Given the description of an element on the screen output the (x, y) to click on. 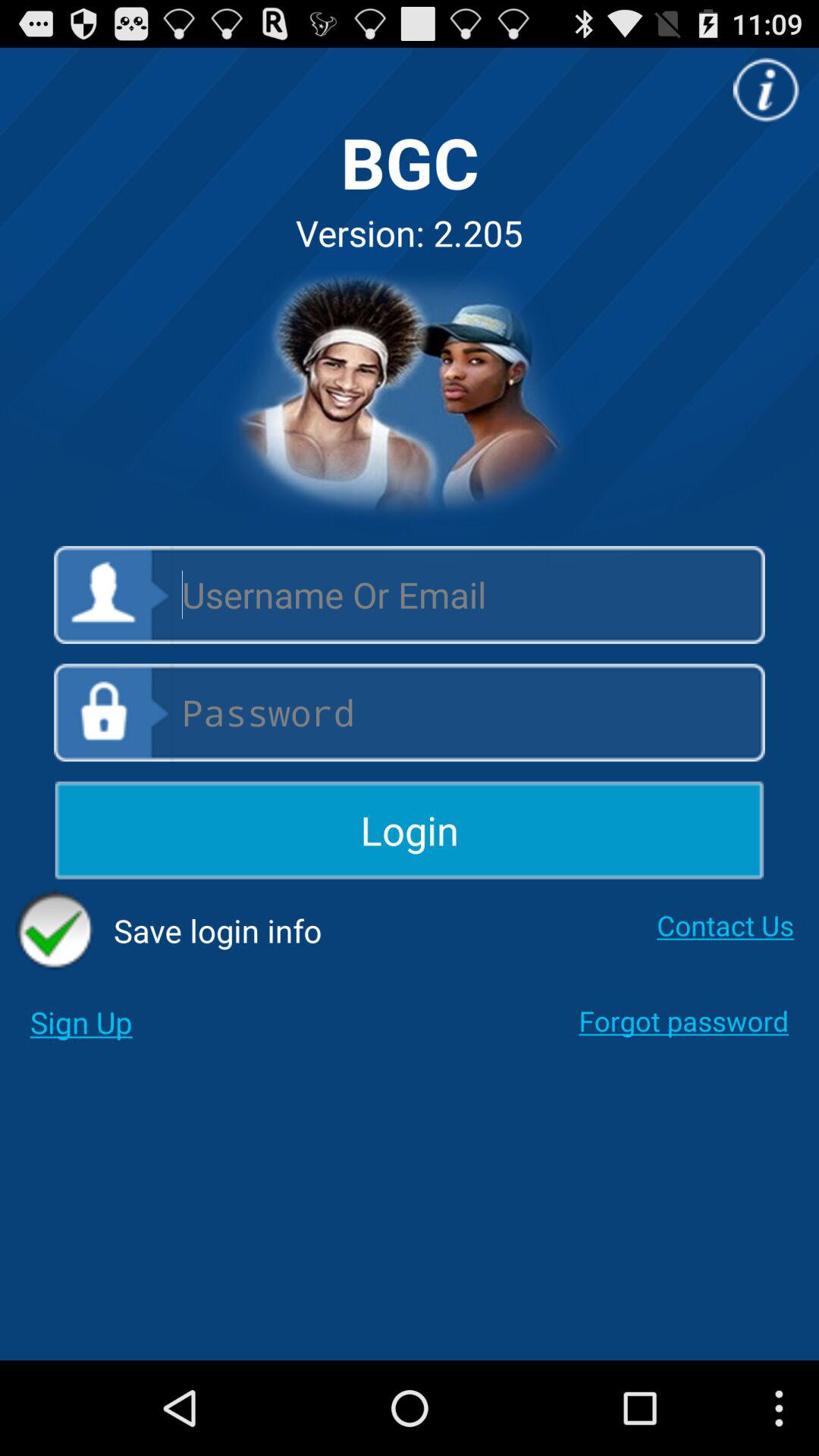
open app next to the sign up icon (683, 1020)
